Given the description of an element on the screen output the (x, y) to click on. 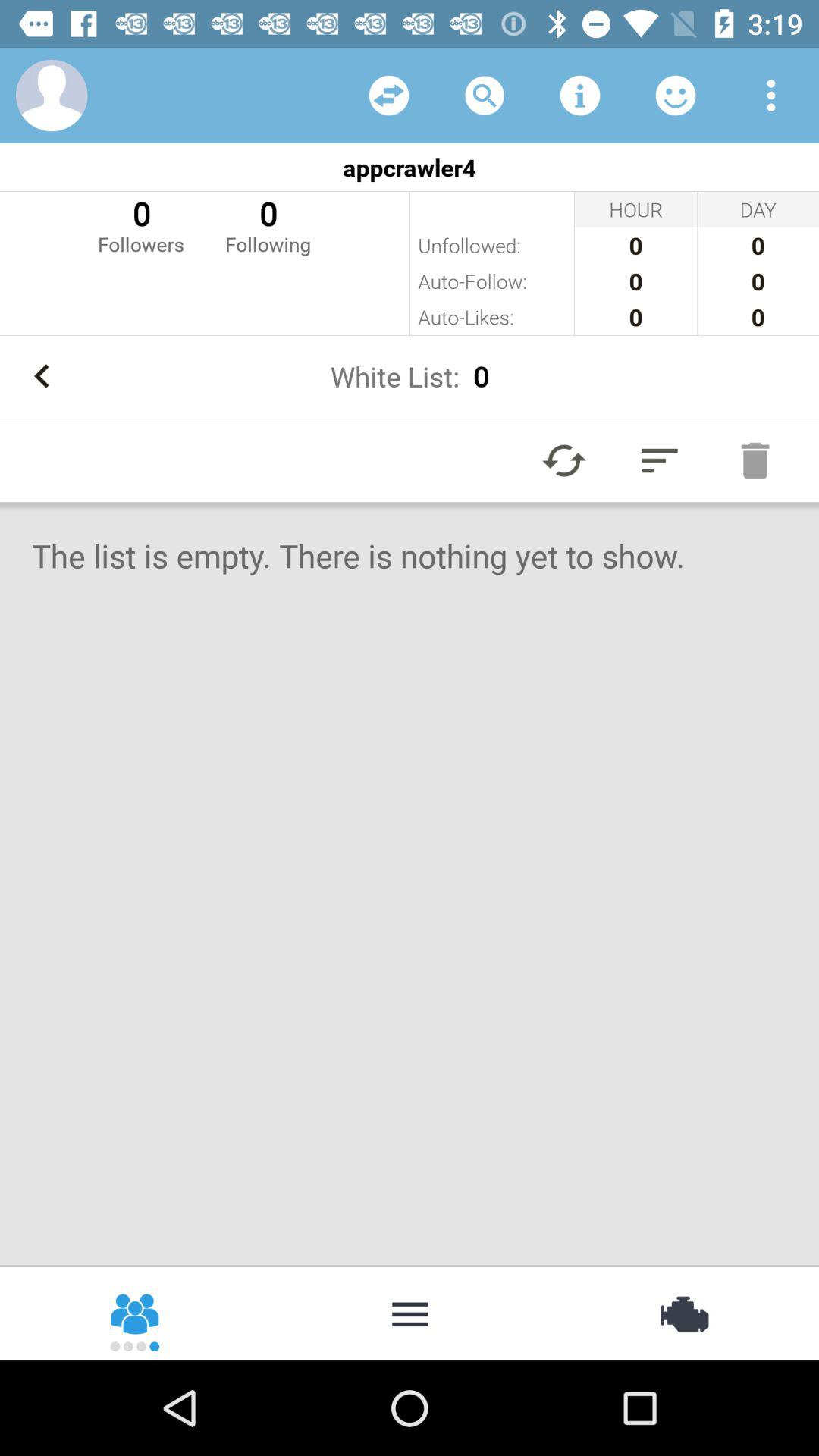
turn off the icon above appcrawler4 item (51, 95)
